Given the description of an element on the screen output the (x, y) to click on. 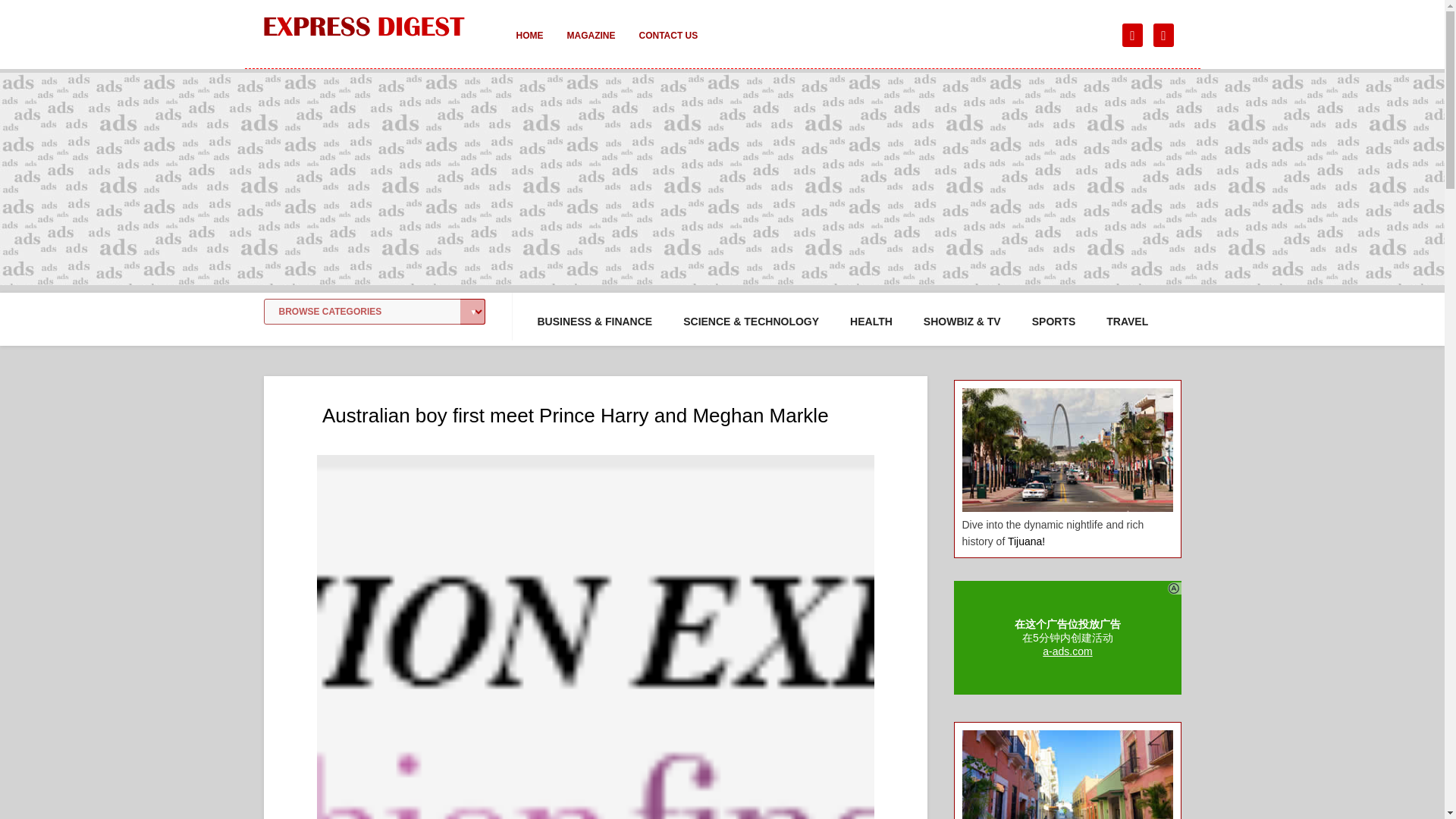
SPORTS (1053, 321)
TRAVEL (1127, 321)
Tijuana! (1026, 541)
MAGAZINE (590, 45)
CONTACT US (667, 45)
HEALTH (871, 321)
